Given the description of an element on the screen output the (x, y) to click on. 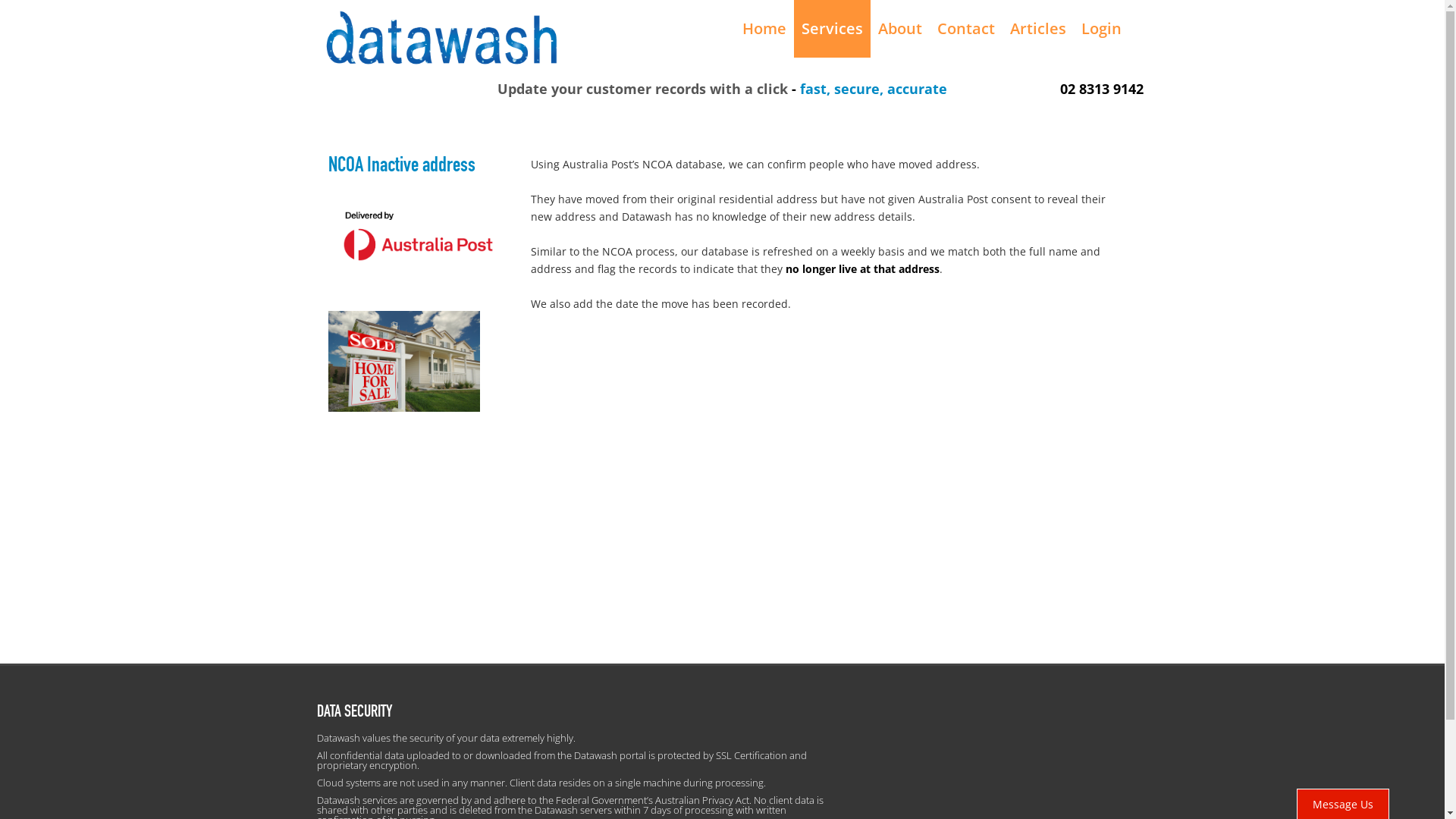
Left the address Element type: hover (403, 360)
Datawash Australia Element type: hover (441, 36)
